Given the description of an element on the screen output the (x, y) to click on. 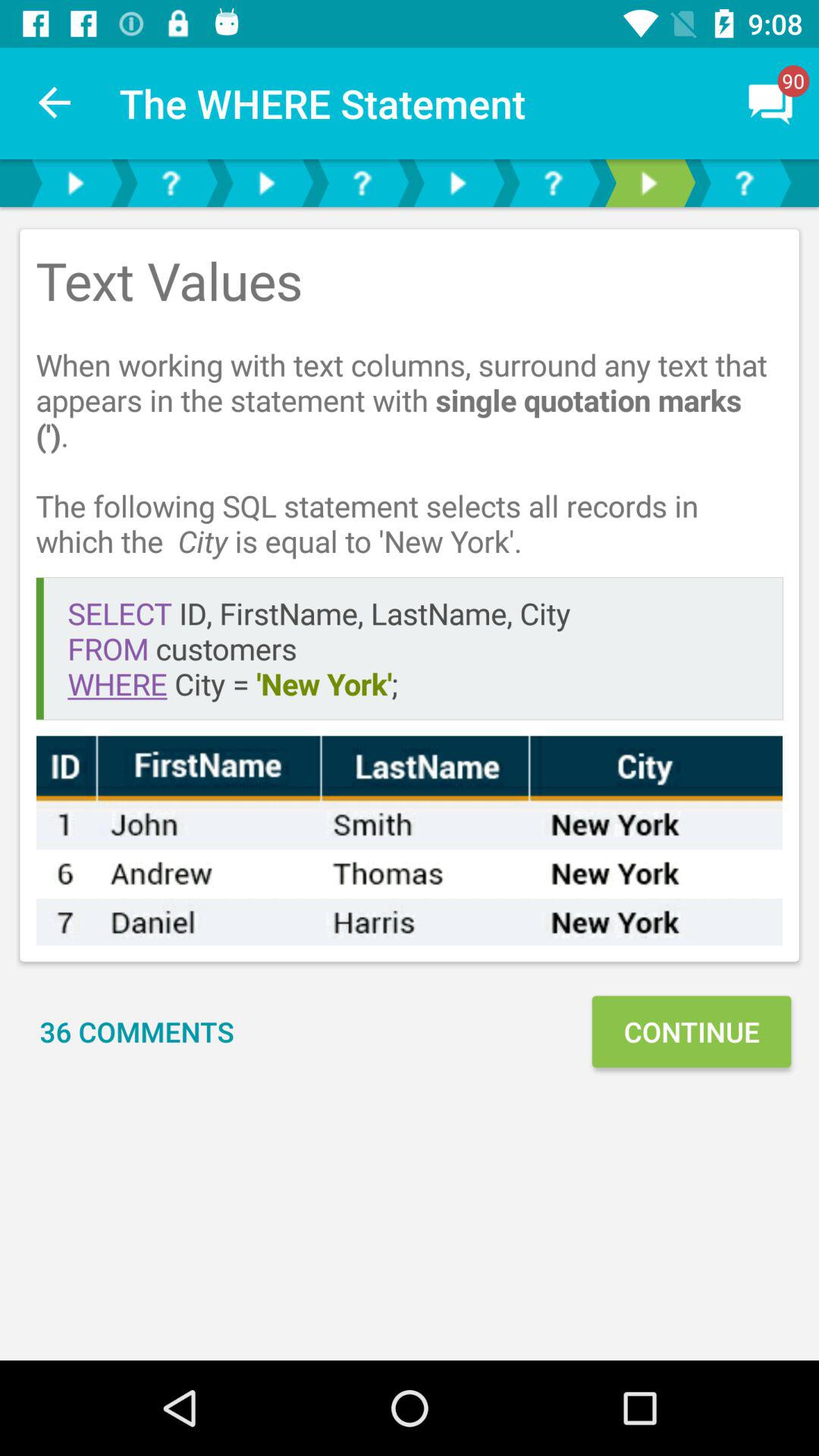
tag your questions (552, 183)
